Given the description of an element on the screen output the (x, y) to click on. 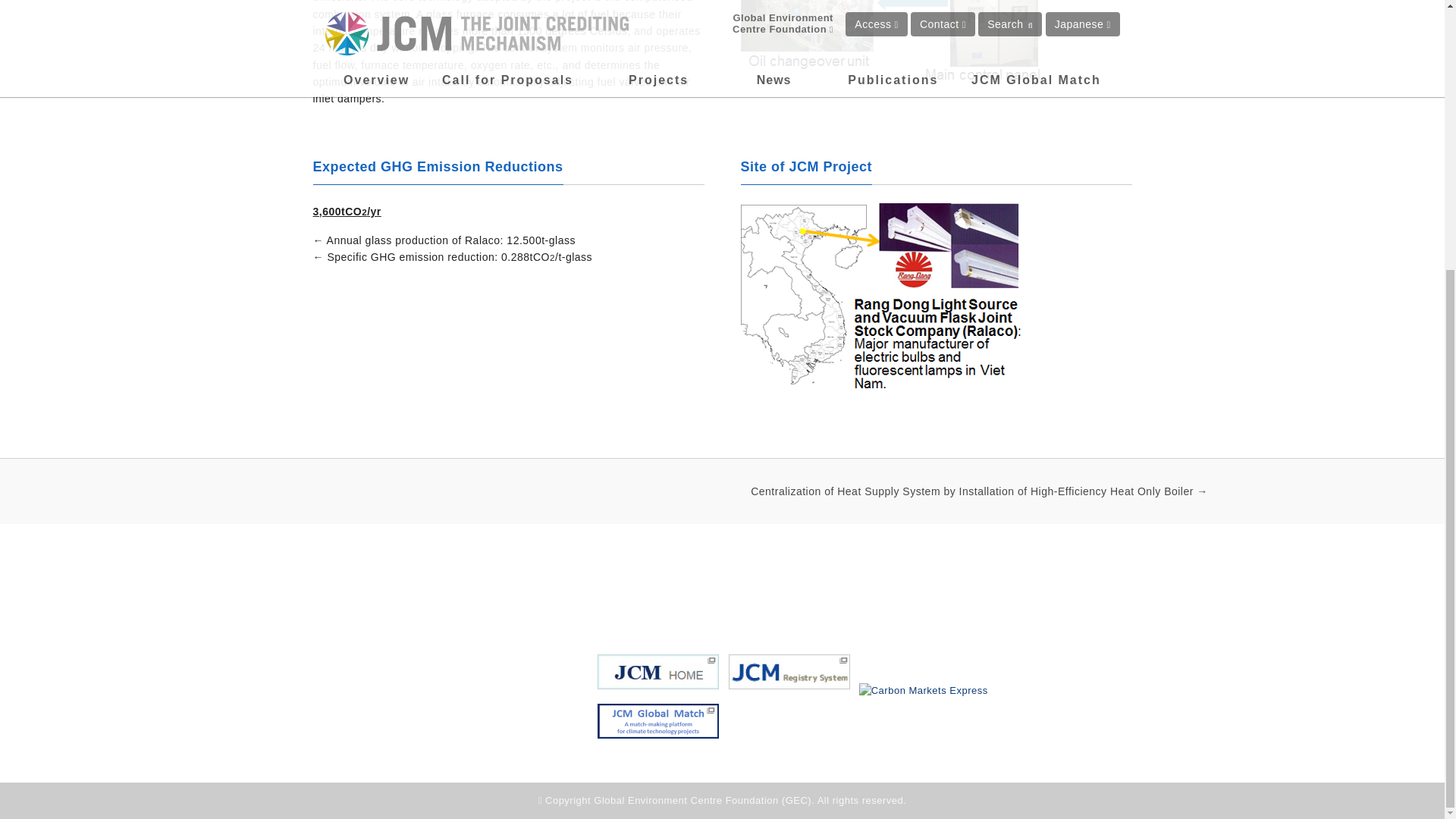
Home (613, 590)
Call for Proposals (913, 590)
Overview (675, 590)
Contact (999, 590)
Projects (742, 590)
Publications (816, 590)
